Given the description of an element on the screen output the (x, y) to click on. 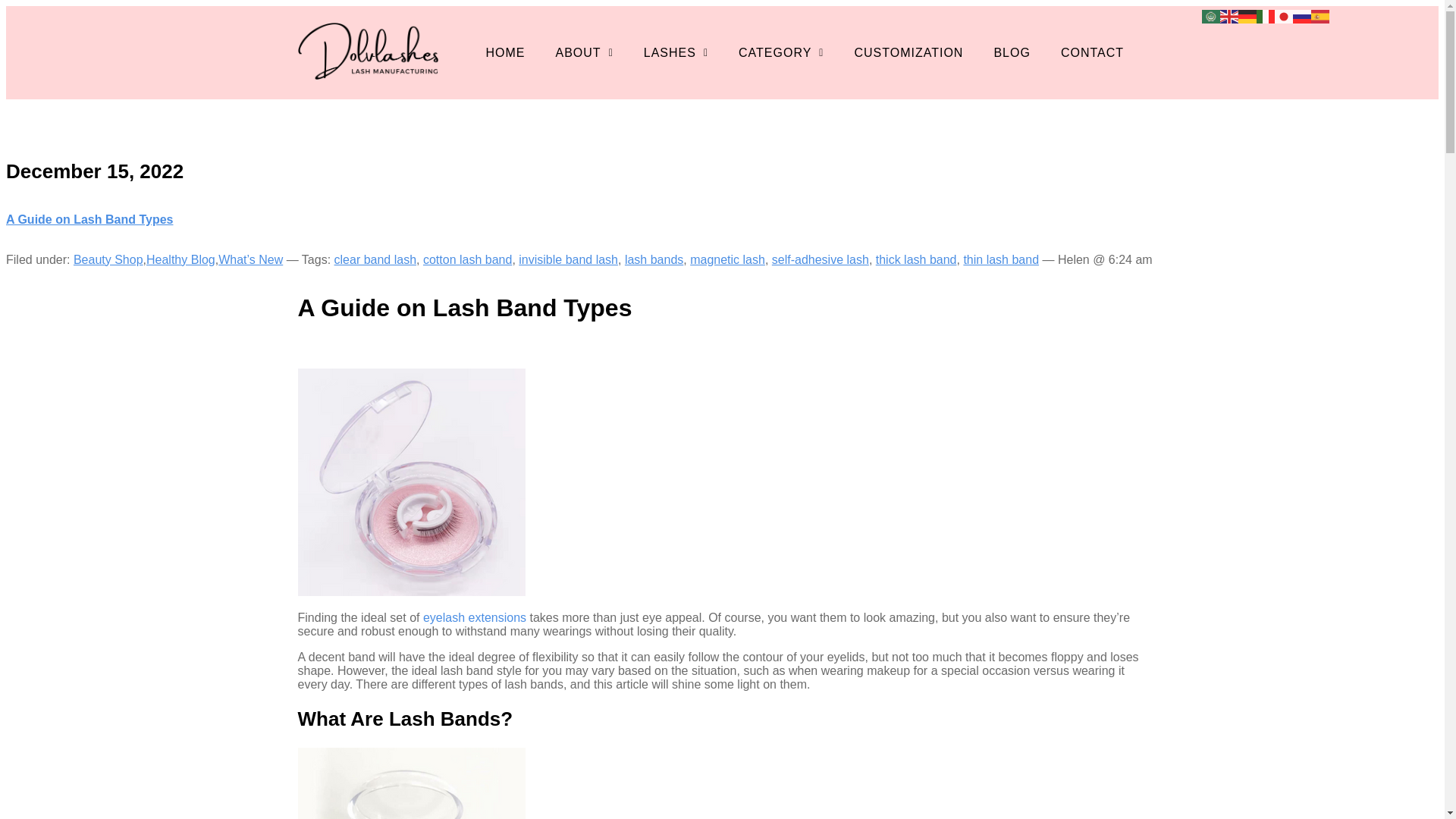
HOME (505, 52)
clear band lash (375, 259)
Healthy Blog (181, 259)
BLOG (1011, 52)
invisible band lash (567, 259)
CUSTOMIZATION (908, 52)
A Guide on Lash Band Types (89, 219)
eyelash extensions (474, 617)
LASHES (675, 52)
CONTACT (1091, 52)
English (1229, 15)
CATEGORY (780, 52)
Beauty Shop (108, 259)
magnetic lash (727, 259)
Italian (1265, 15)
